Given the description of an element on the screen output the (x, y) to click on. 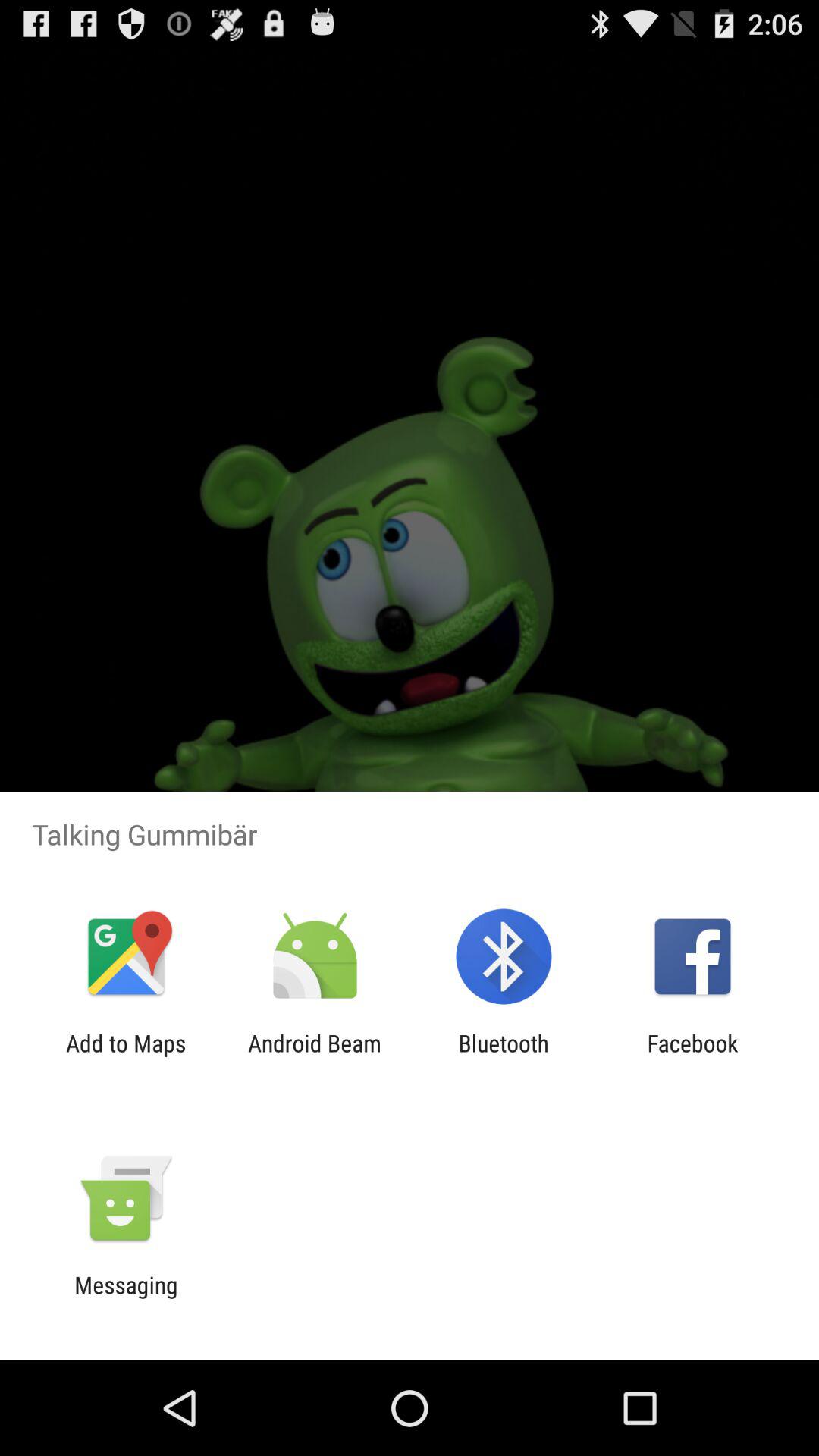
click the icon to the right of add to maps item (314, 1056)
